Given the description of an element on the screen output the (x, y) to click on. 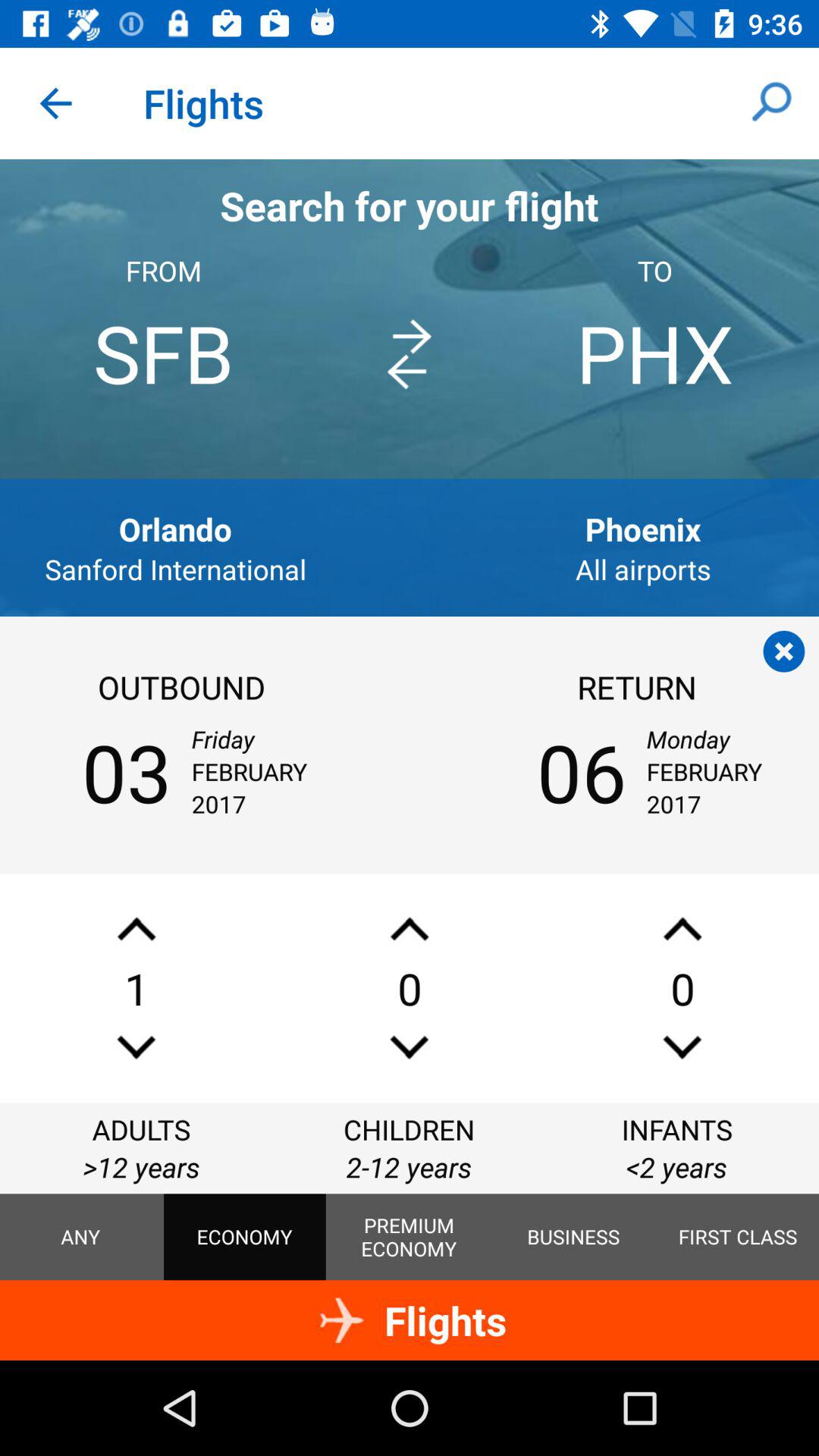
reverse to and from locations (408, 354)
